Given the description of an element on the screen output the (x, y) to click on. 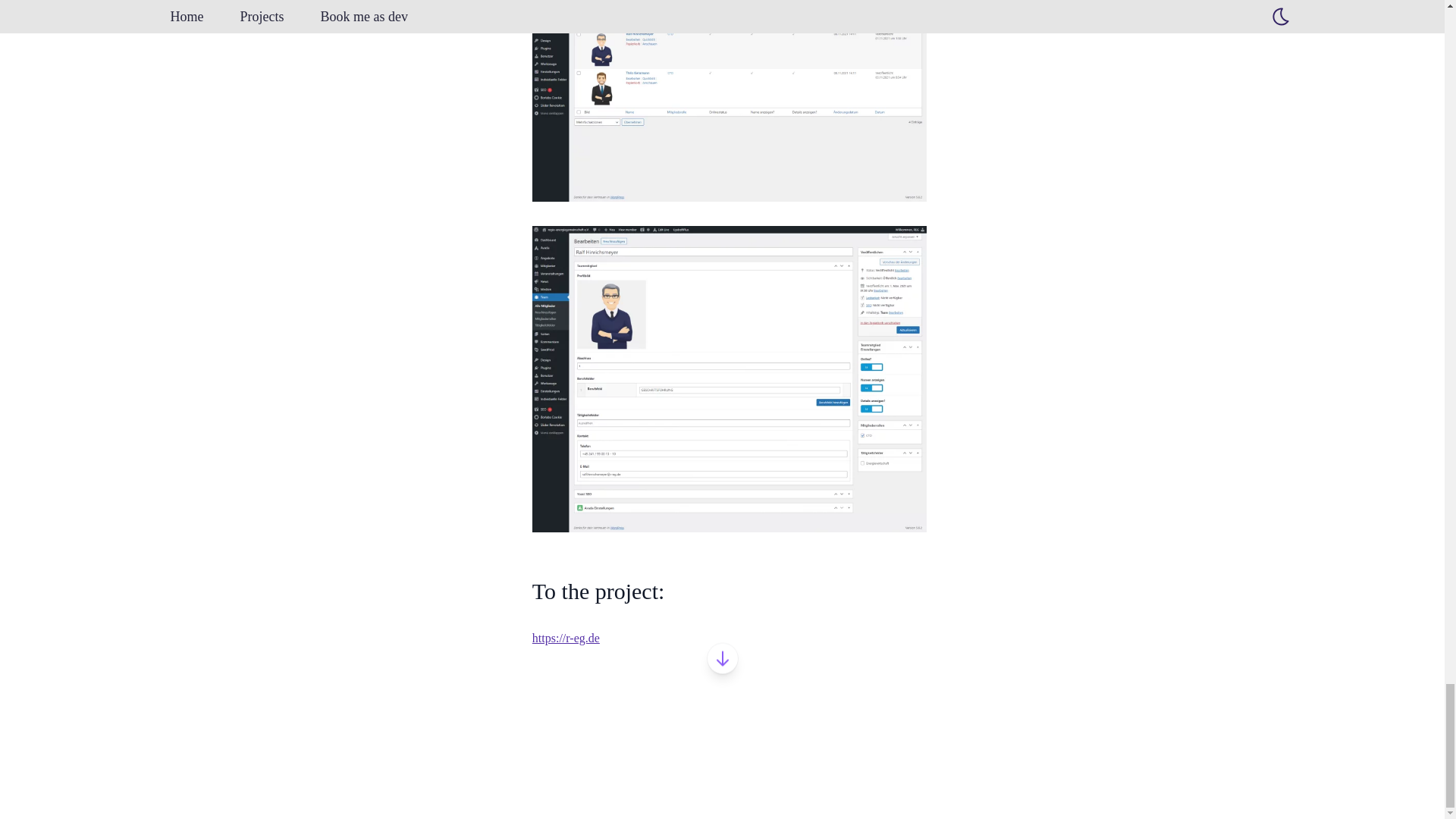
Data Privacy (1251, 779)
Data Privacy (1251, 779)
Legal notice (1171, 779)
Legal notice (1171, 779)
